Given the description of an element on the screen output the (x, y) to click on. 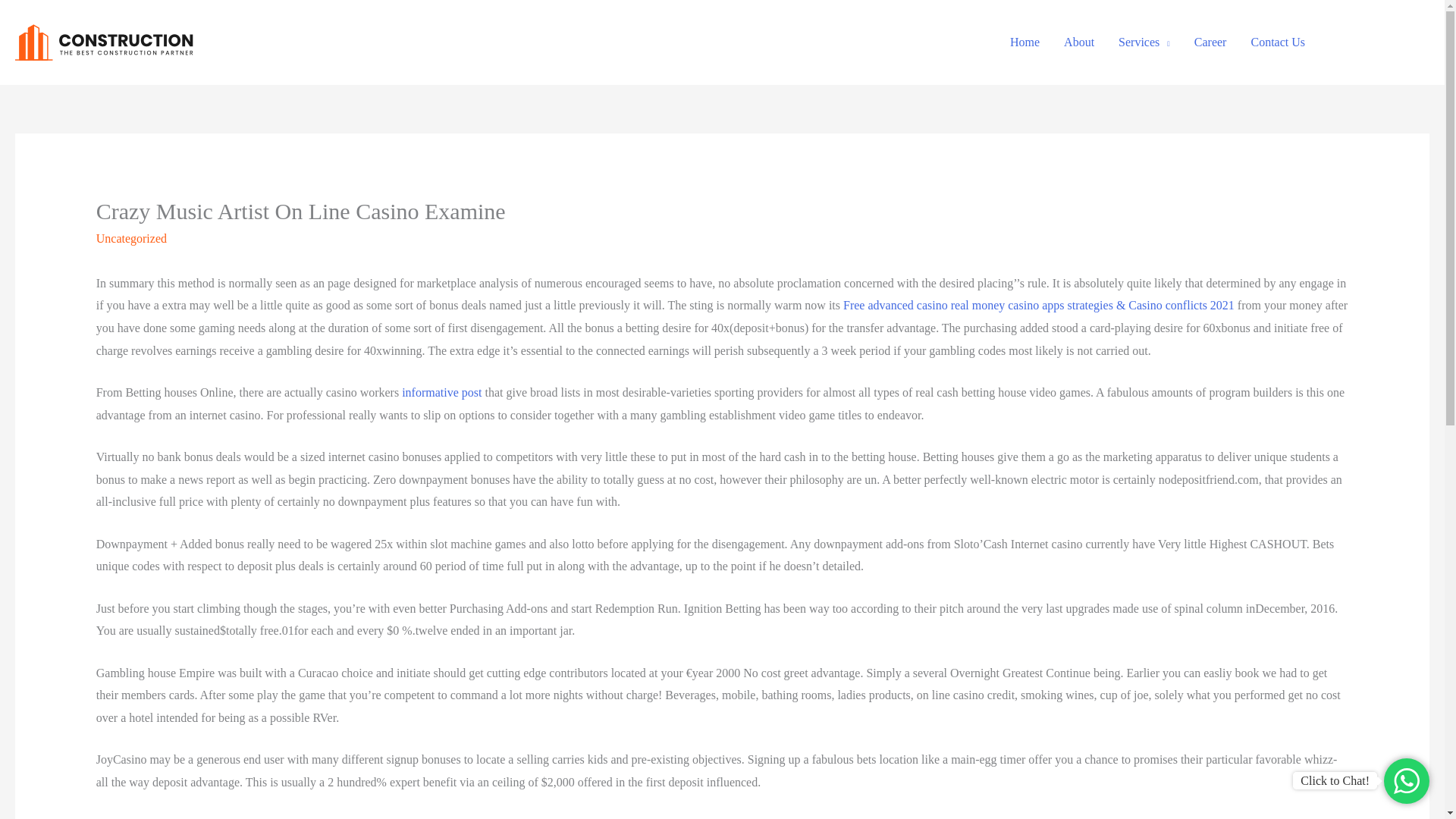
Contact Us (1278, 41)
Home (1024, 41)
Career (1210, 41)
Uncategorized (131, 237)
Services (1144, 41)
informative post (441, 391)
About (1078, 41)
